Given the description of an element on the screen output the (x, y) to click on. 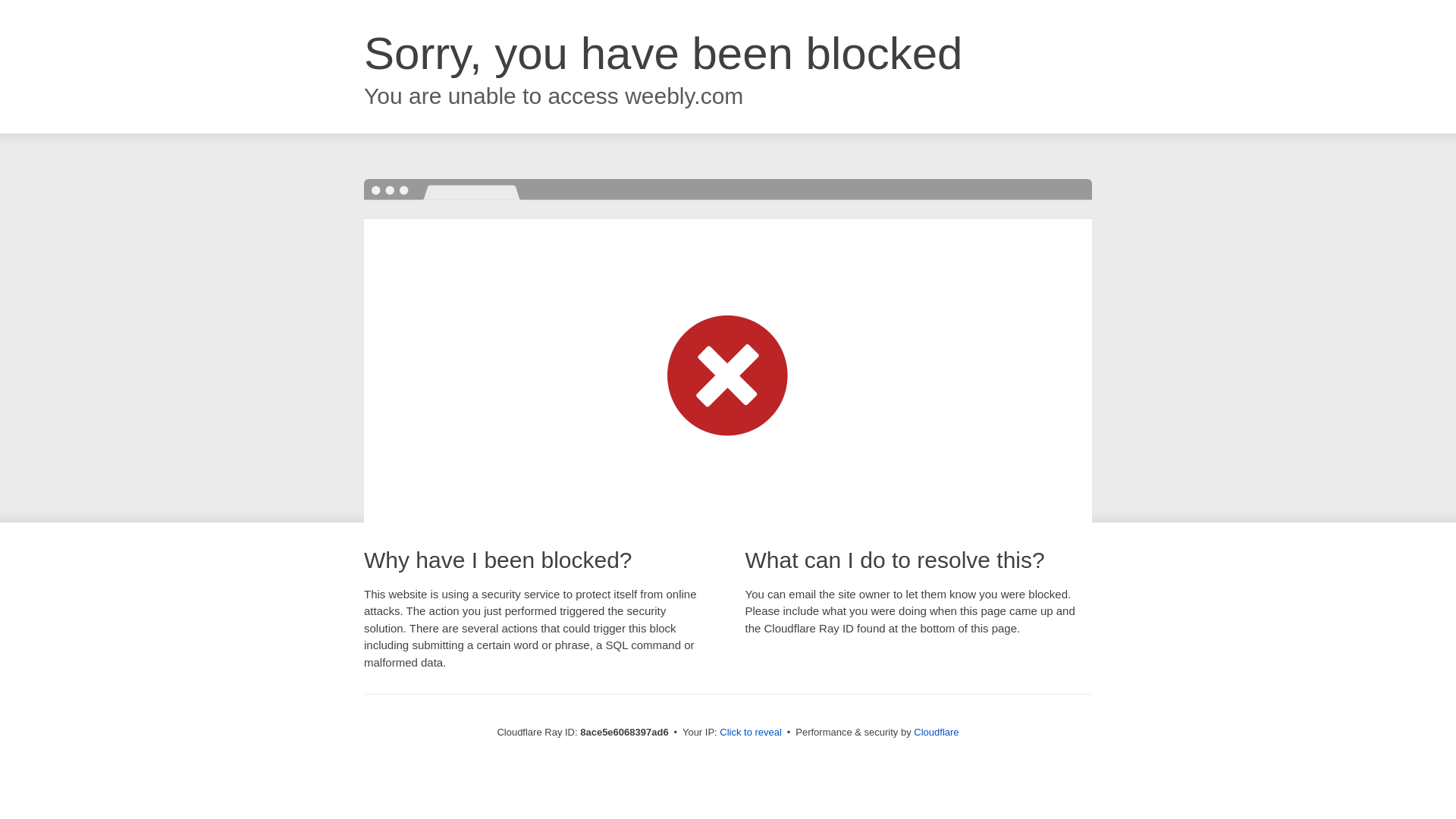
Cloudflare (936, 731)
Click to reveal (750, 732)
